Given the description of an element on the screen output the (x, y) to click on. 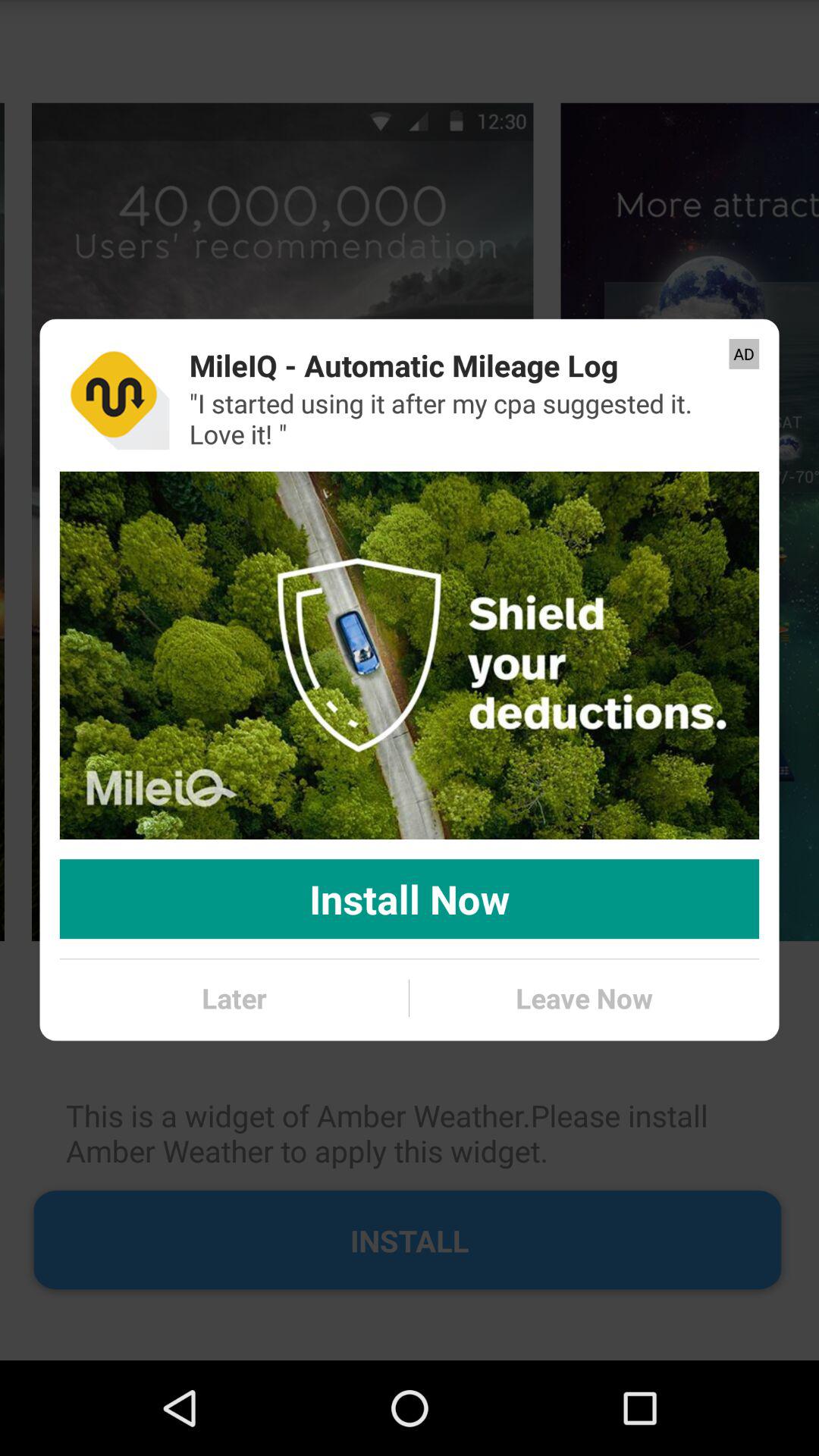
select item at the top left corner (114, 394)
